Given the description of an element on the screen output the (x, y) to click on. 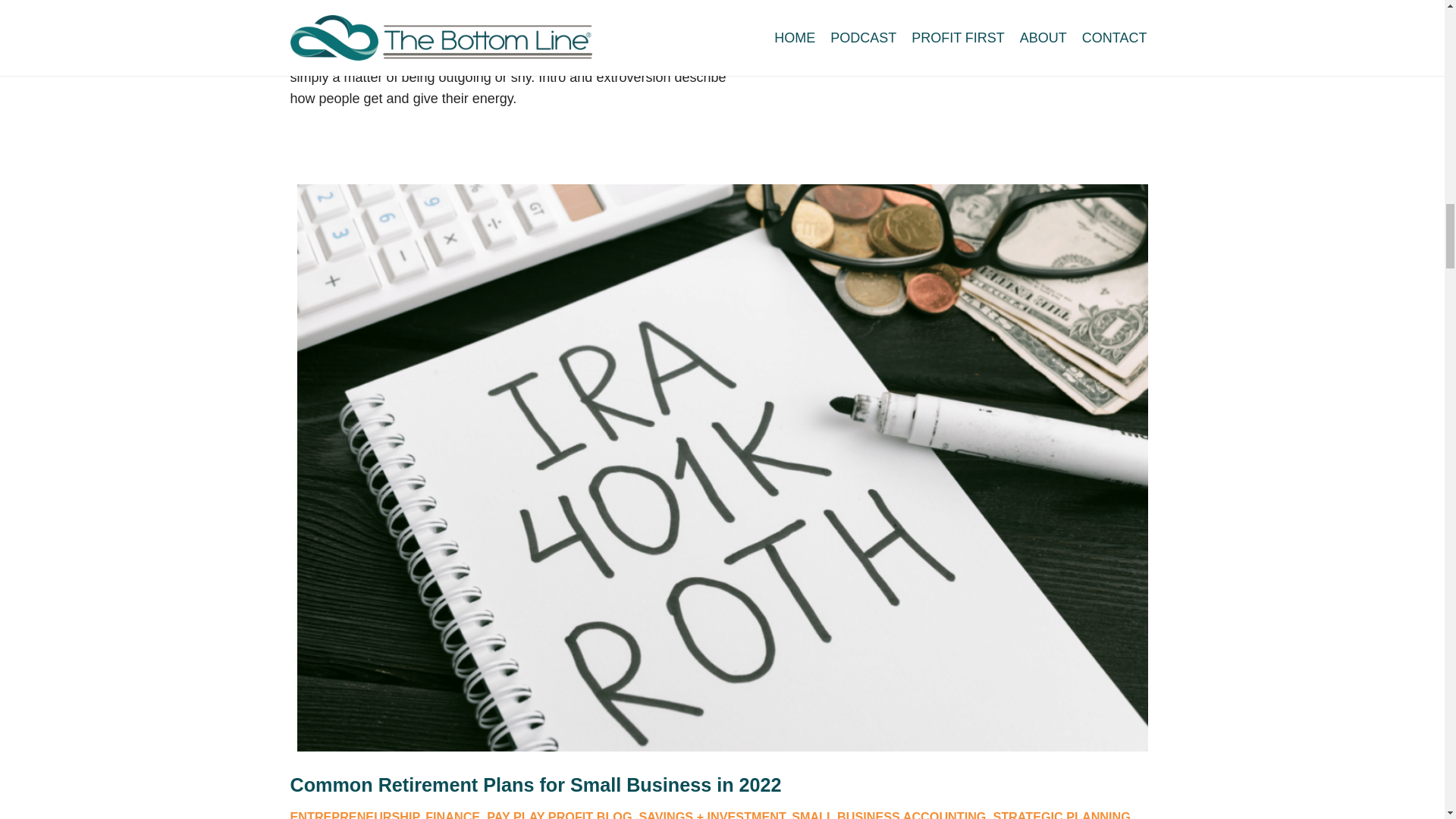
FINANCE (452, 814)
TEAM MEMBER DEVELOPMENT (1042, 6)
BUSINESS DEVELOPMENT (410, 6)
PRODUCTIVITY (751, 6)
FEATURED (665, 6)
SMALL BUSINESS ACCOUNTING (888, 814)
Common Retirement Plans for Small Business in 2022 (534, 784)
STRATEGIC PLANNING (870, 6)
ENTREPRENEURSHIP (561, 6)
ENTREPRENEURSHIP (354, 814)
BLOG (306, 6)
PAY PLAY PROFIT BLOG (558, 814)
